Given the description of an element on the screen output the (x, y) to click on. 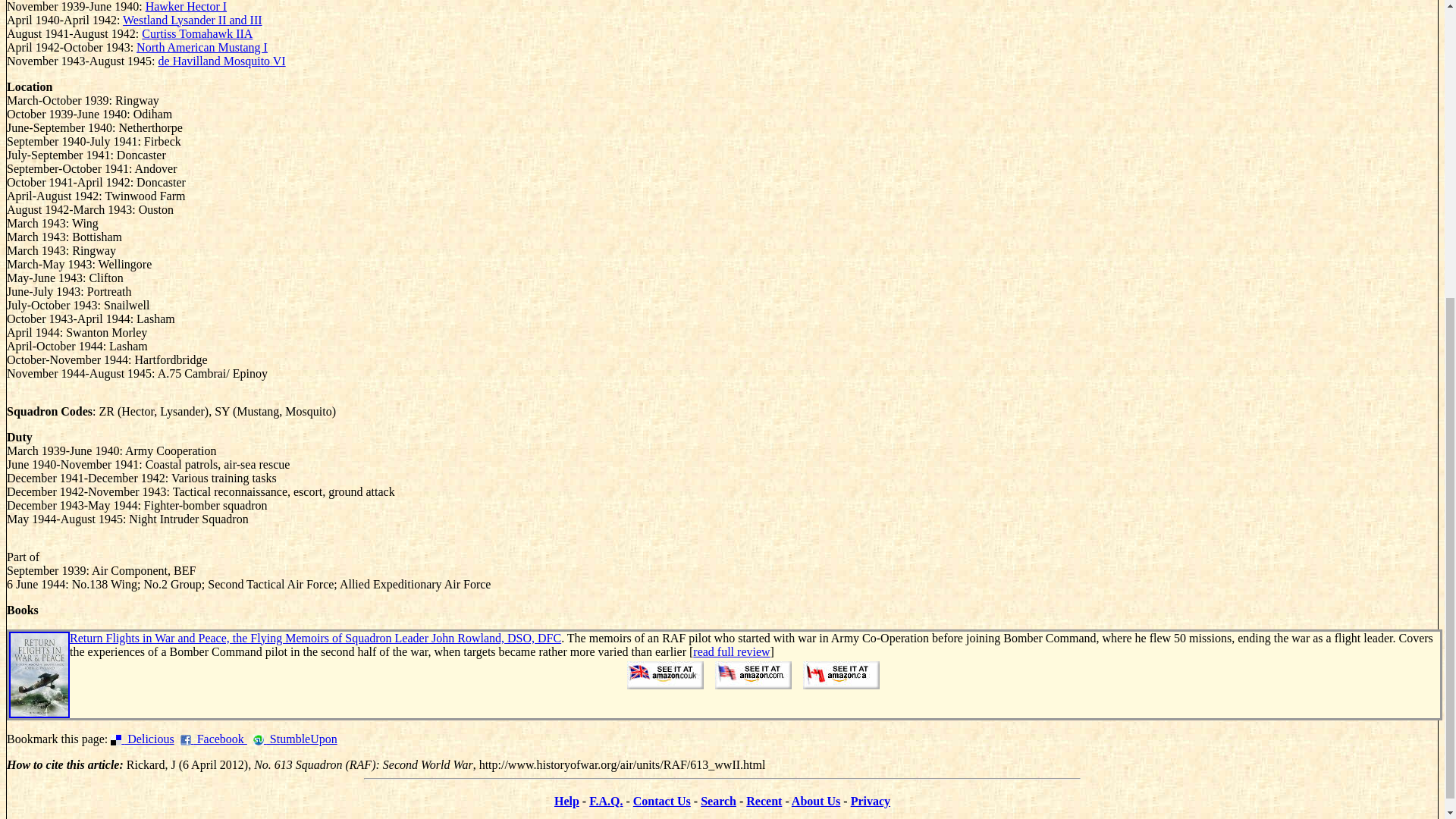
read full review (731, 651)
Westland Lysander II and III (192, 19)
Post this story to Delicious (141, 738)
Curtiss Tomahawk IIA (196, 33)
 Delicious (141, 738)
Post this story to Facebook (213, 738)
de Havilland Mosquito VI (221, 60)
North American Mustang I (201, 47)
 Facebook (213, 738)
Hawker Hector I (186, 6)
